Given the description of an element on the screen output the (x, y) to click on. 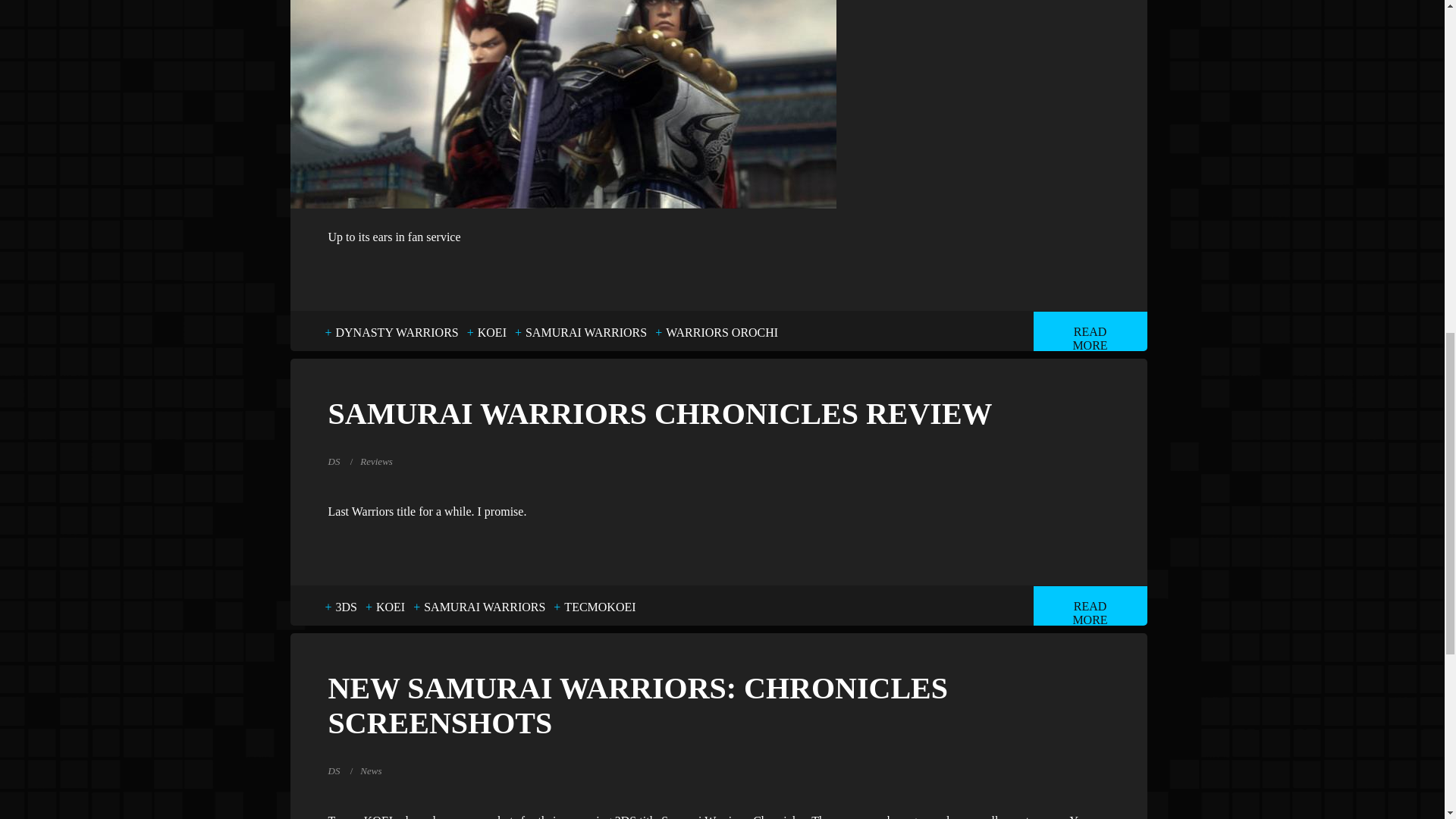
READ MORE (1089, 605)
SAMURAI WARRIORS (484, 607)
KOEI (491, 332)
KOEI (390, 607)
DS (333, 460)
READ MORE (1089, 331)
3DS (345, 607)
SAMURAI WARRIORS (585, 332)
TECMOKOEI (599, 607)
NEW SAMURAI WARRIORS: CHRONICLES SCREENSHOTS (717, 705)
Reviews (376, 460)
SAMURAI WARRIORS CHRONICLES REVIEW (717, 413)
News (370, 770)
DS (333, 770)
DYNASTY WARRIORS (396, 332)
